Given the description of an element on the screen output the (x, y) to click on. 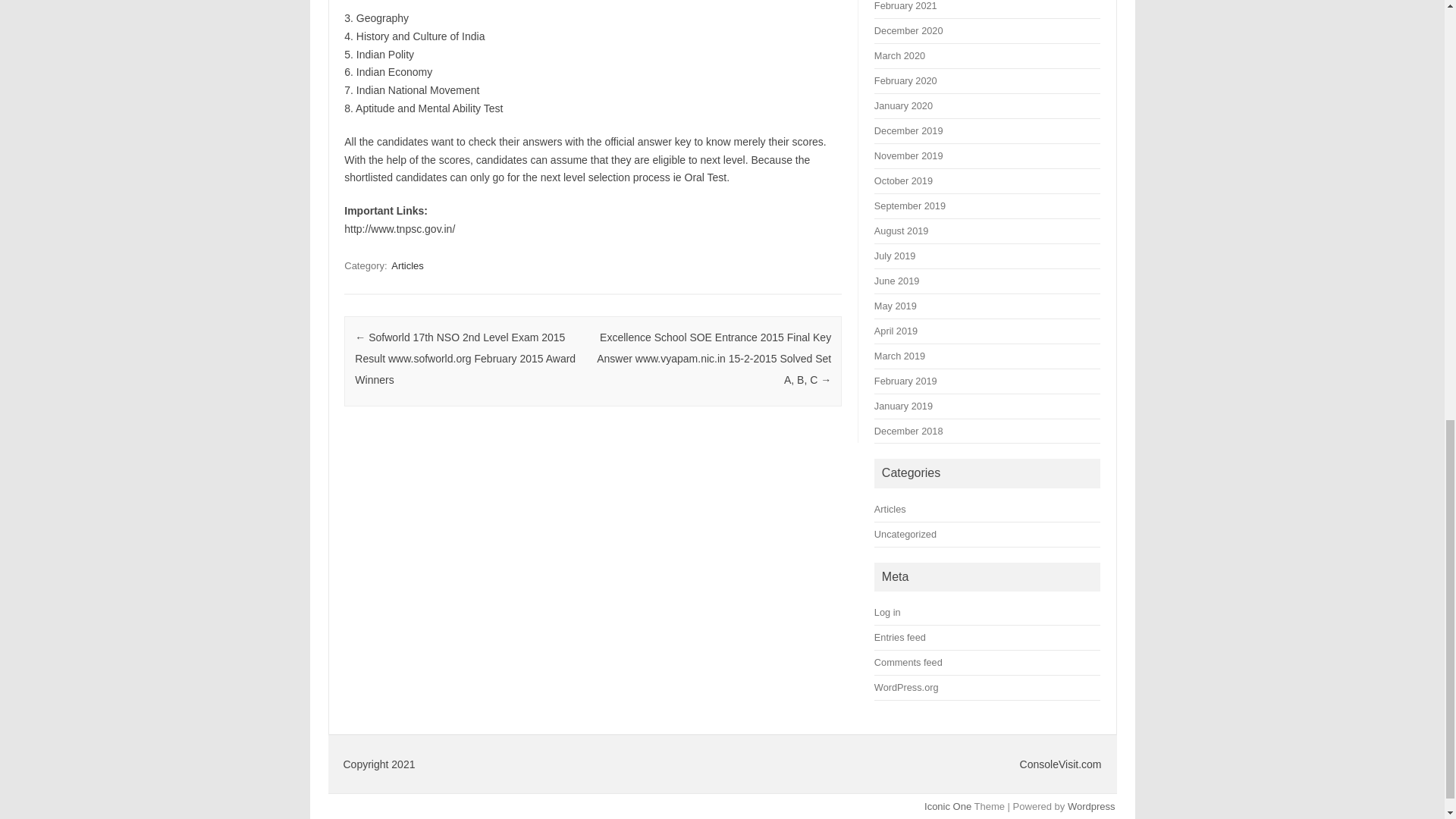
February 2021 (906, 5)
February 2020 (906, 80)
March 2020 (899, 55)
June 2019 (896, 280)
September 2019 (909, 205)
May 2019 (896, 306)
January 2020 (904, 105)
January 2019 (904, 405)
December 2018 (909, 430)
August 2019 (901, 230)
March 2019 (899, 355)
October 2019 (904, 180)
December 2020 (909, 30)
February 2019 (906, 380)
Articles (407, 265)
